Given the description of an element on the screen output the (x, y) to click on. 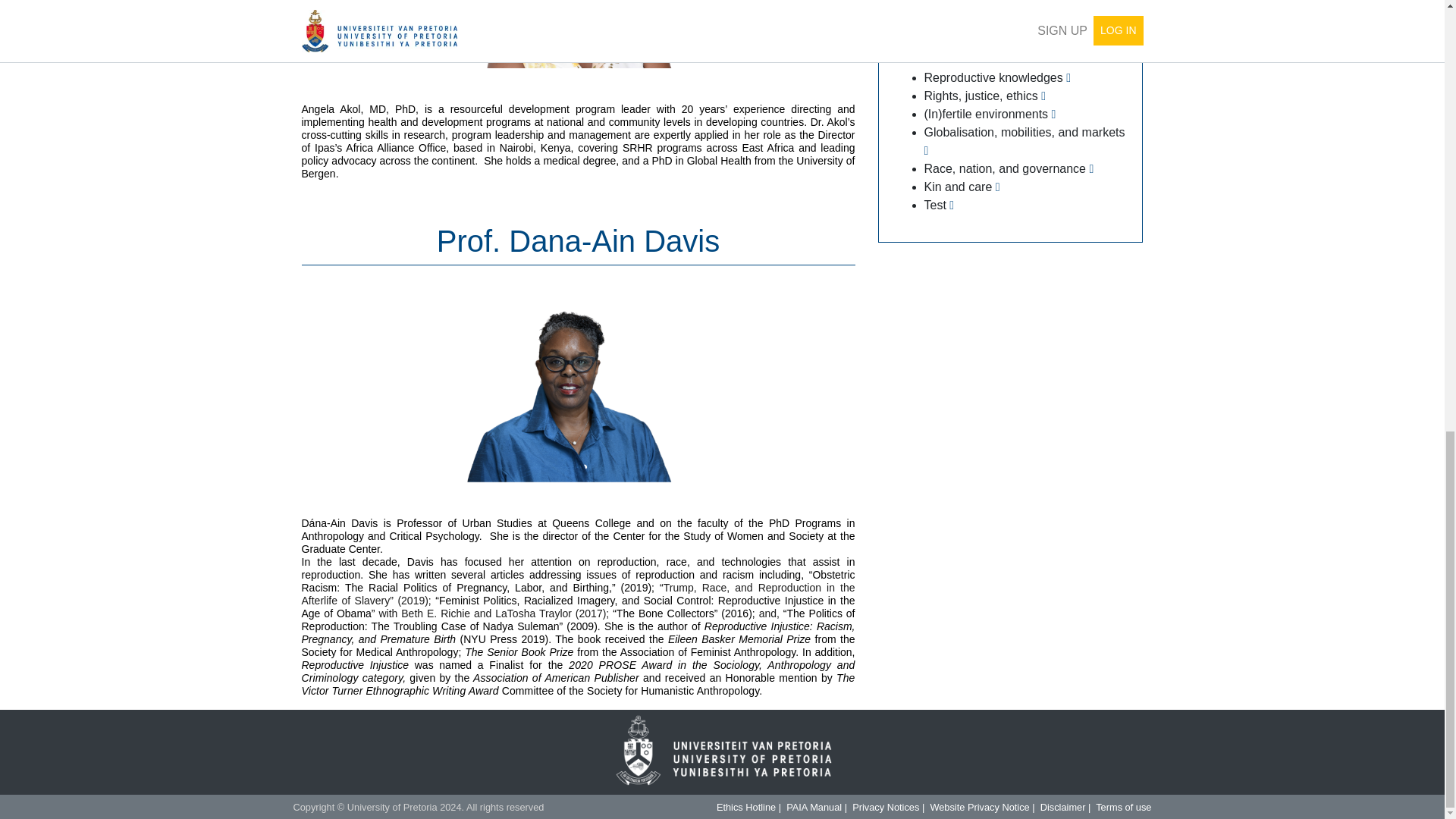
Privacy Notices (884, 807)
Terms of use (1123, 807)
Disclaimer (1063, 807)
Ethics Hotline (746, 807)
Website Privacy Notice (979, 807)
PAIA Manual (813, 807)
